Given the description of an element on the screen output the (x, y) to click on. 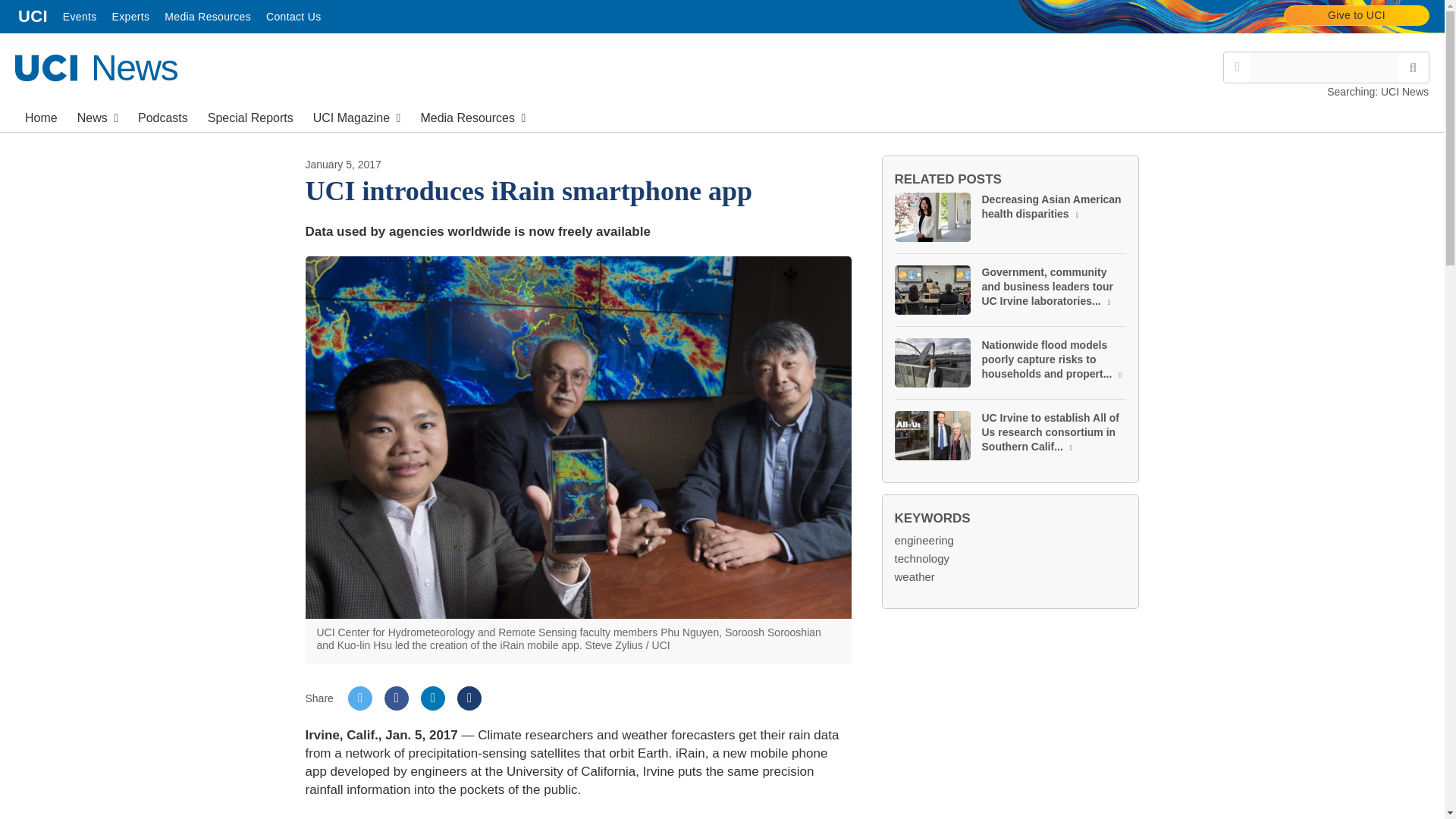
Events (1356, 14)
Media Resources (79, 16)
News (207, 16)
UCI (97, 116)
Contact Us (32, 16)
Home (293, 16)
Special Reports (40, 116)
Experts (250, 116)
Podcasts (130, 16)
